Given the description of an element on the screen output the (x, y) to click on. 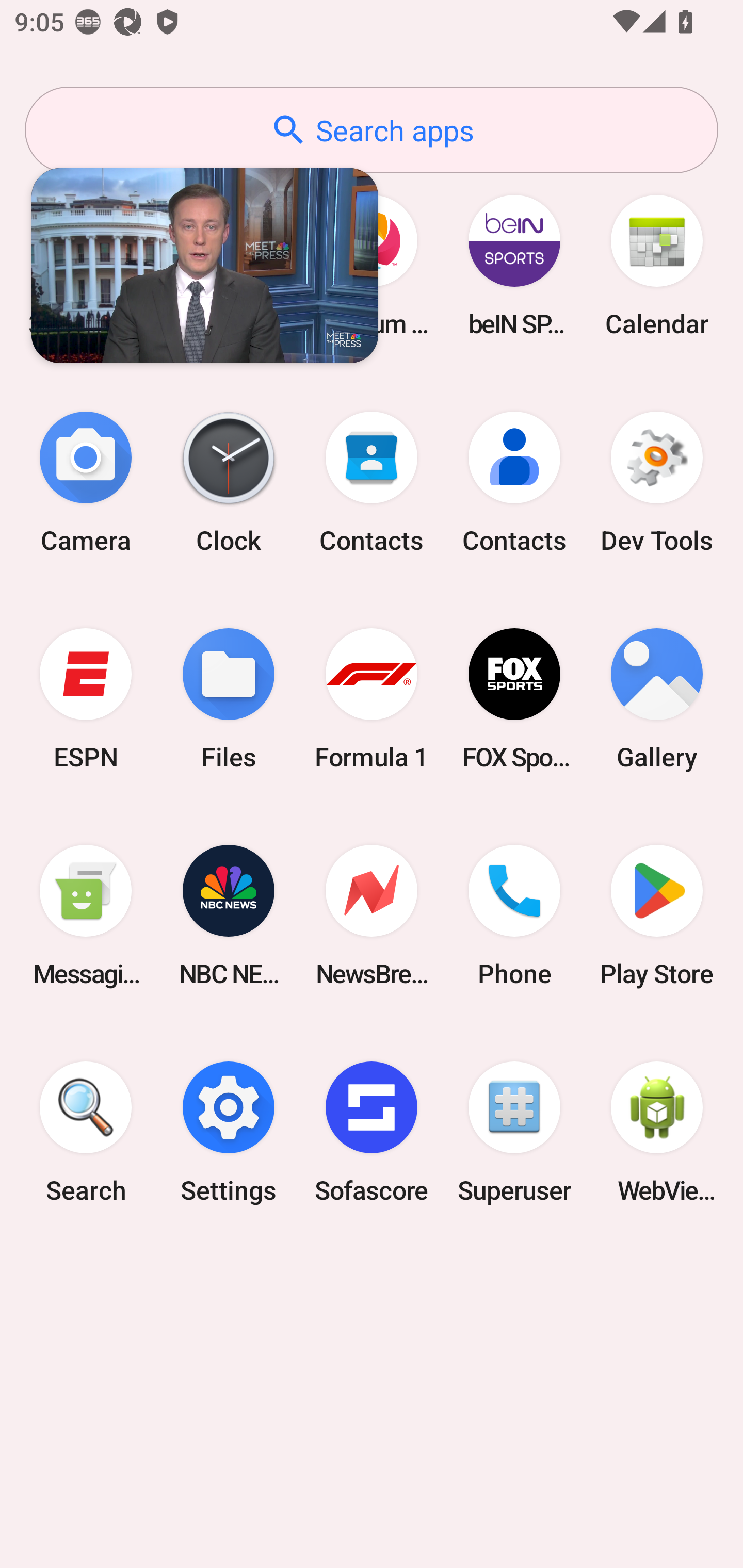
  Search apps (371, 130)
365Scores (85, 264)
Amaze (228, 264)
Appium Settings (371, 264)
beIN SPORTS (514, 264)
Calendar (656, 264)
Camera (85, 482)
Clock (228, 482)
Contacts (371, 482)
Contacts (514, 482)
Dev Tools (656, 482)
ESPN (85, 699)
Files (228, 699)
Formula 1 (371, 699)
FOX Sports (514, 699)
Gallery (656, 699)
Messaging (85, 915)
NBC NEWS (228, 915)
NewsBreak (371, 915)
Phone (514, 915)
Play Store (656, 915)
Search (85, 1131)
Settings (228, 1131)
Sofascore (371, 1131)
Superuser (514, 1131)
WebView Browser Tester (656, 1131)
